Given the description of an element on the screen output the (x, y) to click on. 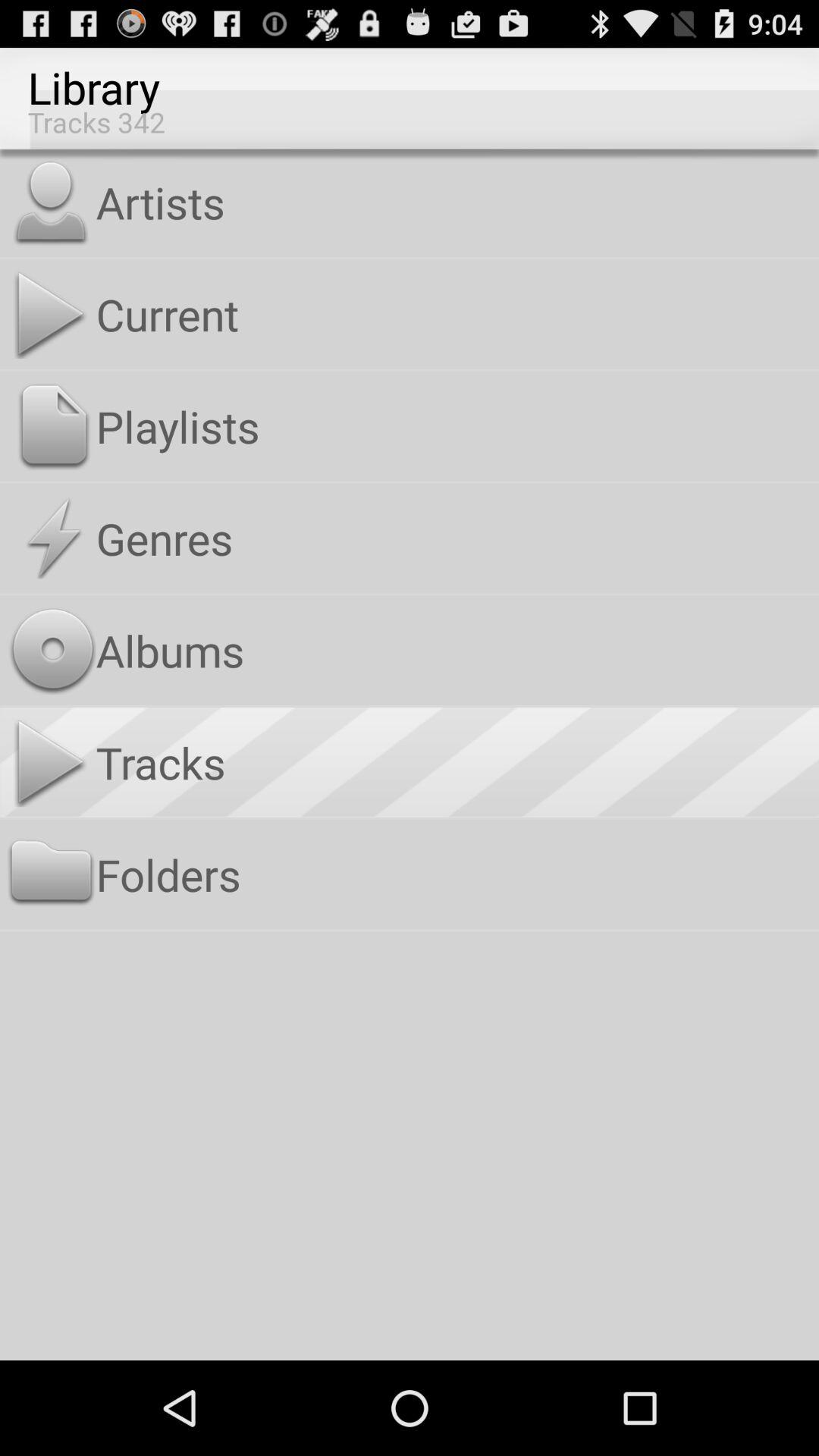
jump to artists app (454, 201)
